Given the description of an element on the screen output the (x, y) to click on. 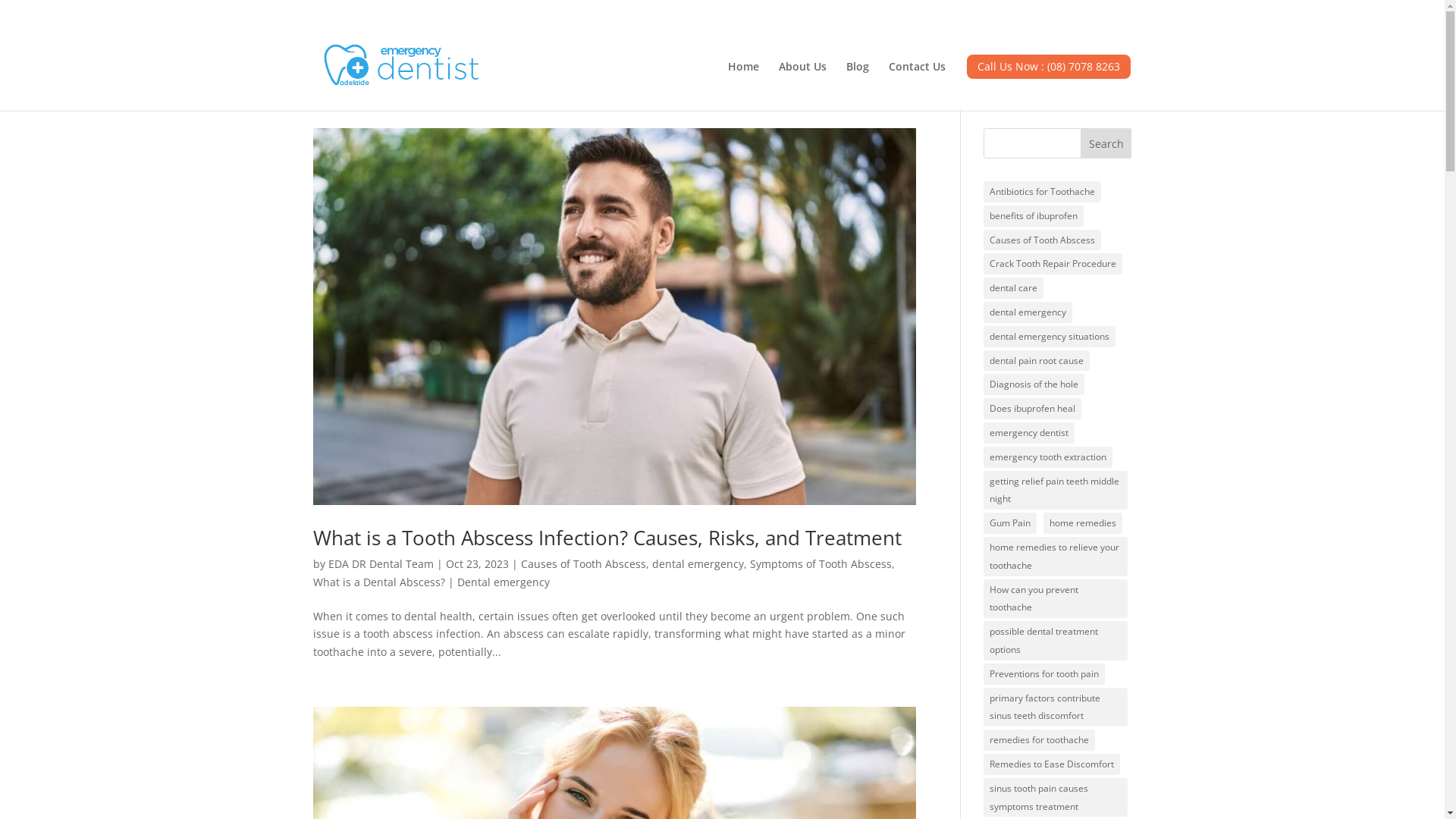
remedies for toothache Element type: text (1039, 739)
Search Element type: text (1106, 143)
emergency tooth extraction Element type: text (1047, 456)
Call Us Now : (08) 7078 8263 Element type: text (1047, 81)
home remedies Element type: text (1082, 522)
What is a Dental Abscess? Element type: text (378, 581)
Crack Tooth Repair Procedure Element type: text (1052, 263)
getting relief pain teeth middle night Element type: text (1055, 490)
Home Element type: text (743, 81)
Does ibuprofen heal Element type: text (1032, 408)
Dental emergency Element type: text (502, 581)
Causes of Tooth Abscess Element type: text (582, 563)
Preventions for tooth pain Element type: text (1043, 673)
About Us Element type: text (801, 81)
Contact Us Element type: text (916, 81)
dental care Element type: text (1013, 287)
Remedies to Ease Discomfort Element type: text (1051, 764)
sinus tooth pain causes symptoms treatment Element type: text (1055, 797)
dental emergency Element type: text (697, 563)
Causes of Tooth Abscess Element type: text (1042, 240)
benefits of ibuprofen Element type: text (1033, 215)
dental emergency situations Element type: text (1049, 336)
Diagnosis of the hole Element type: text (1033, 384)
primary factors contribute sinus teeth discomfort Element type: text (1055, 707)
How can you prevent toothache Element type: text (1055, 598)
Gum Pain Element type: text (1009, 522)
home remedies to relieve your toothache Element type: text (1055, 556)
Symptoms of Tooth Abscess Element type: text (820, 563)
Blog Element type: text (857, 81)
emergency dentist Element type: text (1028, 432)
dental pain root cause Element type: text (1036, 360)
dental emergency Element type: text (1027, 312)
Antibiotics for Toothache Element type: text (1042, 191)
possible dental treatment options Element type: text (1055, 640)
EDA DR Dental Team Element type: text (380, 563)
